Given the description of an element on the screen output the (x, y) to click on. 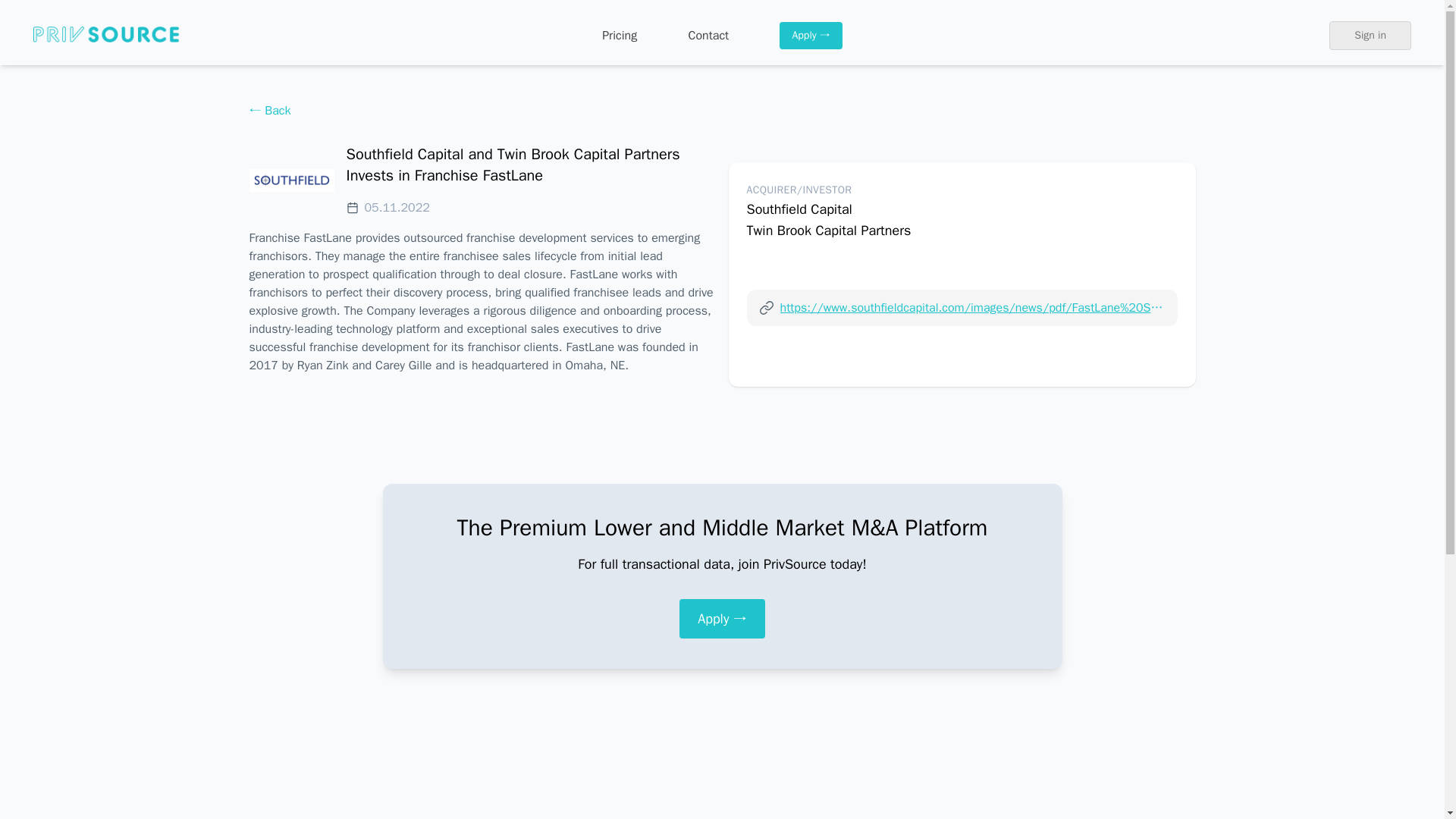
Pricing (619, 35)
Contact (708, 35)
Sign in (1369, 35)
